Given the description of an element on the screen output the (x, y) to click on. 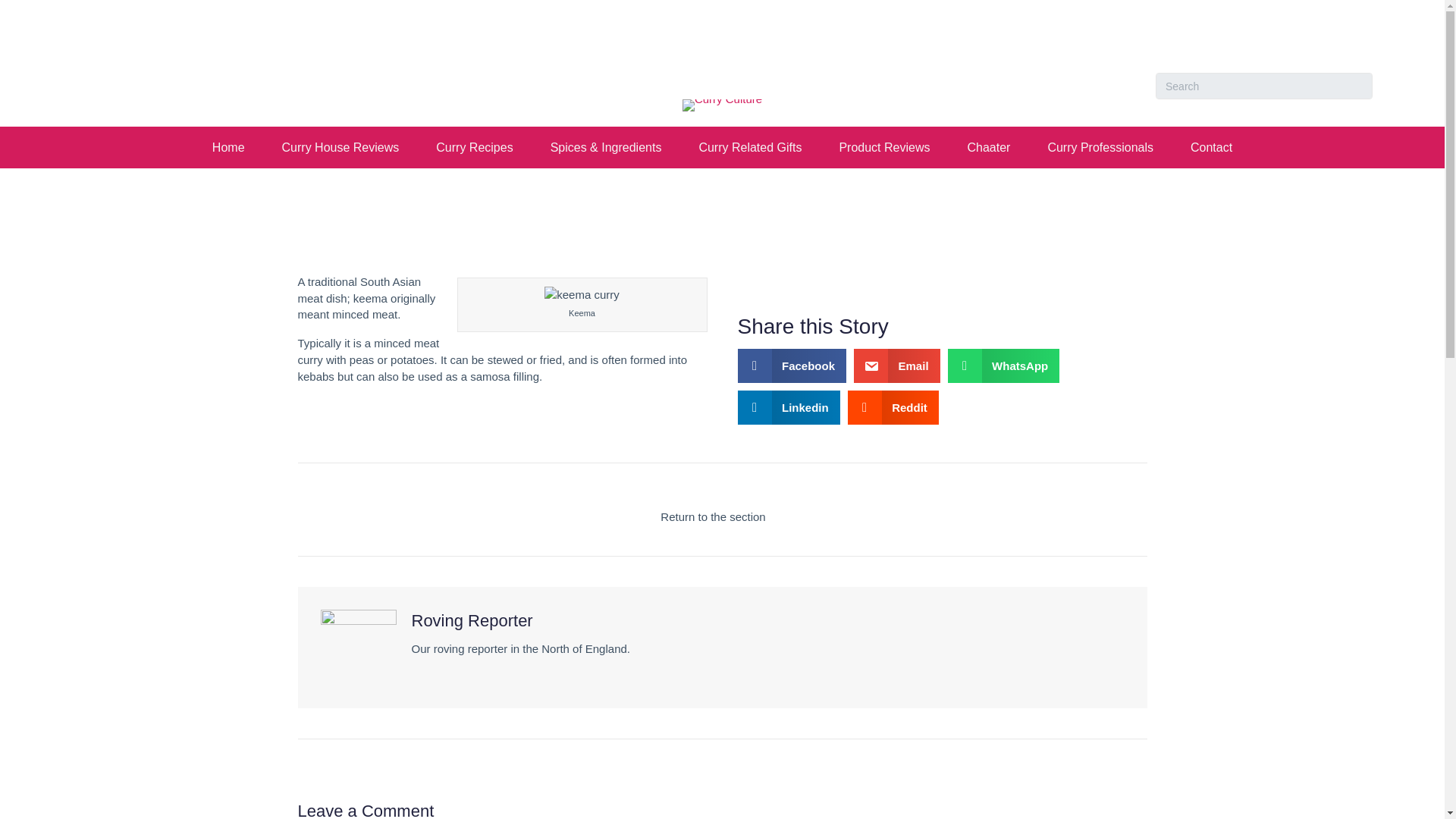
Curry House Reviews (340, 147)
Type and press Enter to search. (1264, 85)
Product Reviews (884, 147)
Home (228, 147)
Curry Related Gifts (749, 147)
Curry Recipes (474, 147)
keema curry  (582, 294)
Curry Culture (721, 105)
Contact (1211, 147)
Chaater (988, 147)
